Given the description of an element on the screen output the (x, y) to click on. 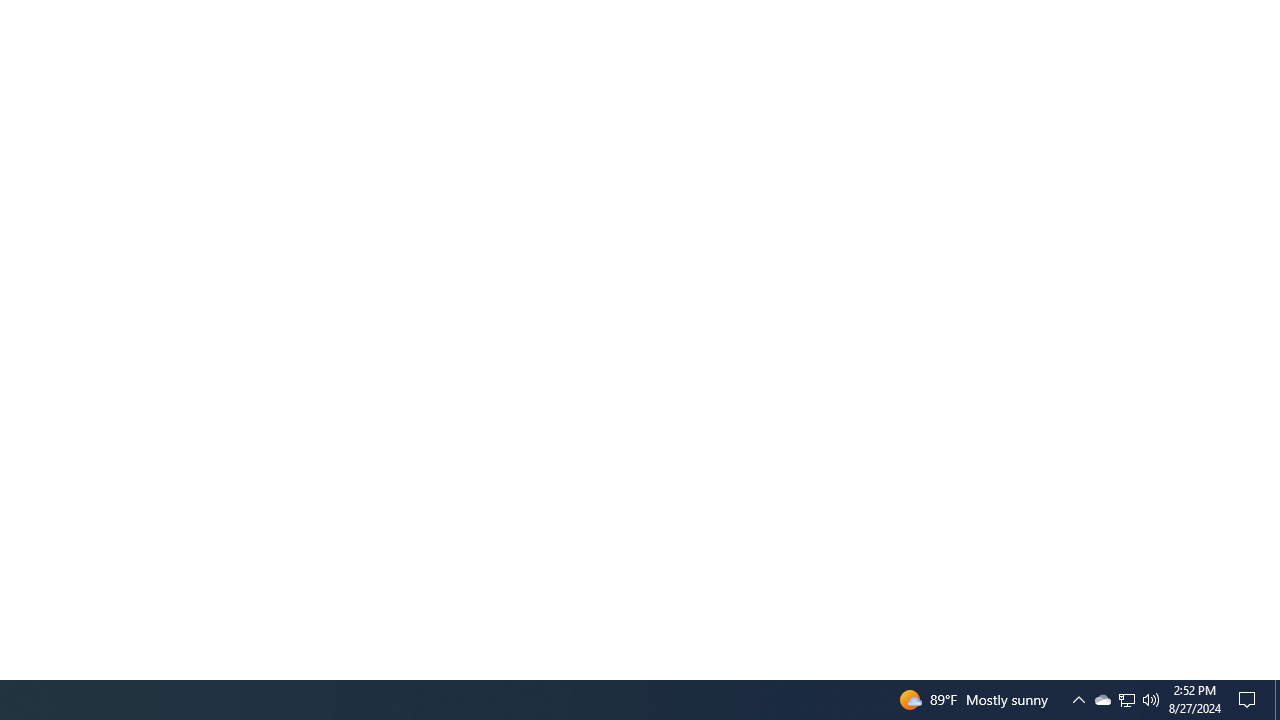
Notification Chevron (1078, 699)
Q2790: 100% (1102, 699)
User Promoted Notification Area (1151, 699)
Show desktop (1126, 699)
Action Center, No new notifications (1126, 699)
